Given the description of an element on the screen output the (x, y) to click on. 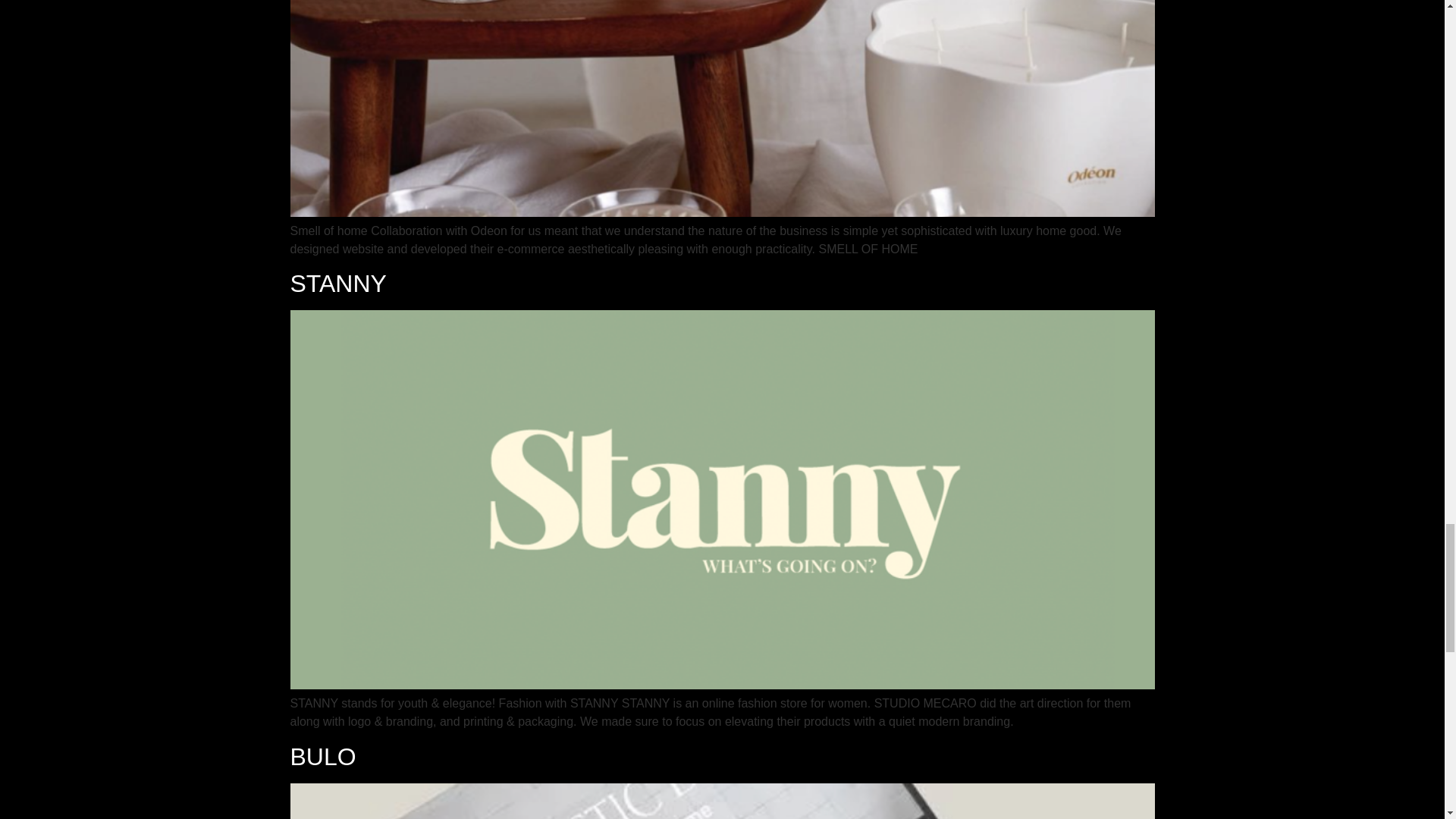
BULO (322, 756)
STANNY (337, 283)
